Given the description of an element on the screen output the (x, y) to click on. 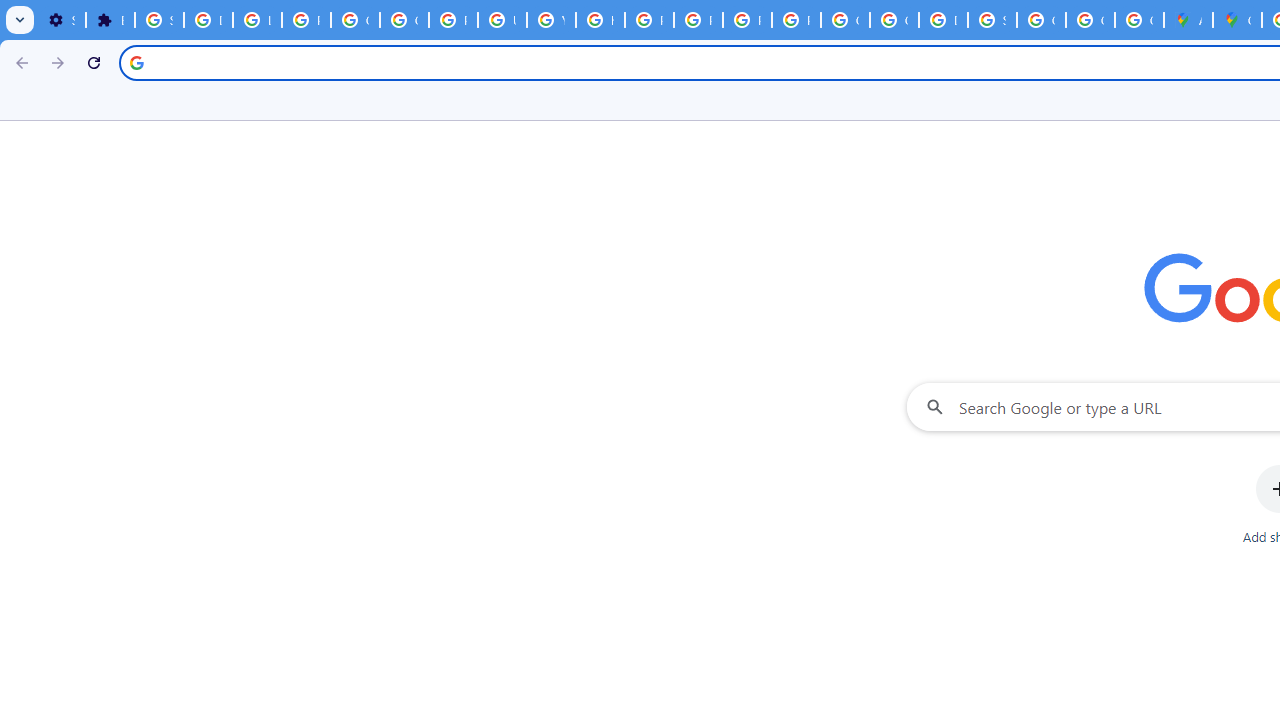
Google Account Help (355, 20)
https://scholar.google.com/ (600, 20)
Create your Google Account (1138, 20)
Google Maps (1237, 20)
Delete photos & videos - Computer - Google Photos Help (208, 20)
Search icon (136, 62)
Extensions (109, 20)
Google Account Help (404, 20)
